Given the description of an element on the screen output the (x, y) to click on. 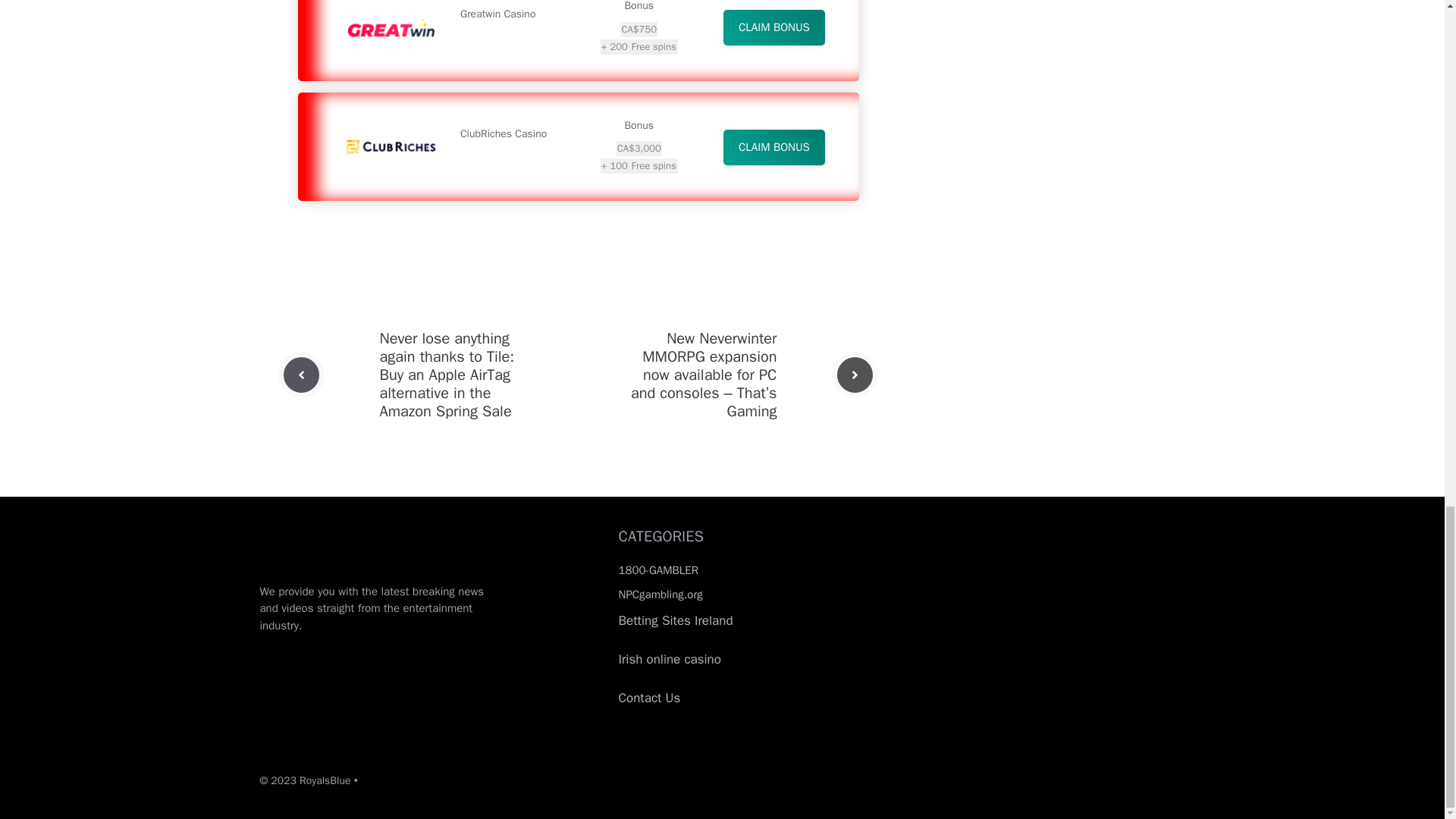
Scroll back to top (1406, 193)
